Given the description of an element on the screen output the (x, y) to click on. 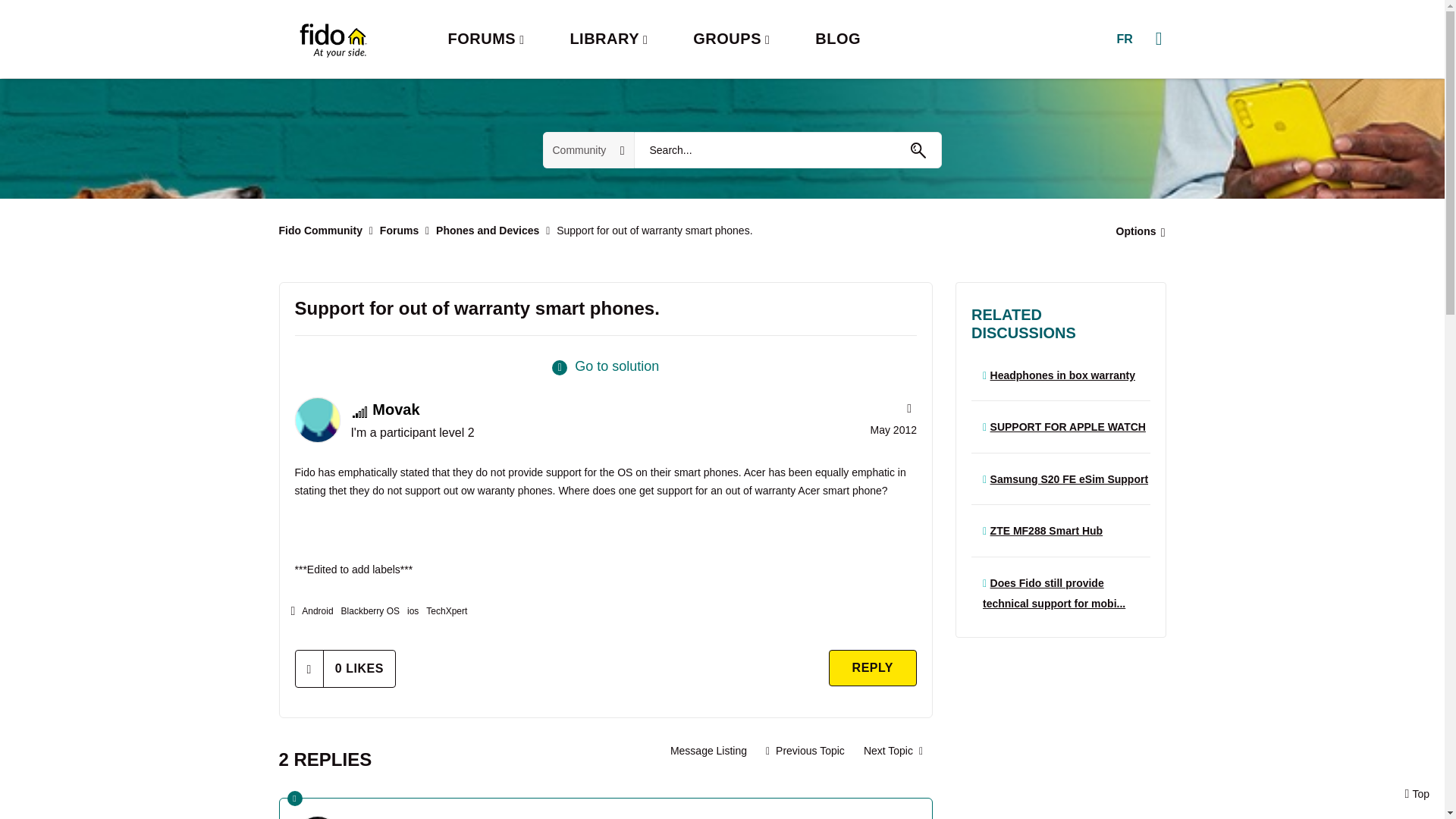
FR (1124, 38)
Show option menu (1136, 230)
FORUMS (485, 39)
BLOG (837, 39)
The total number of likes this post has received. (358, 668)
Show option menu (907, 408)
LIBRARY (608, 39)
Search Granularity (588, 149)
Go (917, 149)
Forums (399, 230)
Fido (332, 39)
Fido Community (320, 230)
Go (917, 149)
Phones and Devices (486, 230)
Go (917, 149)
